Given the description of an element on the screen output the (x, y) to click on. 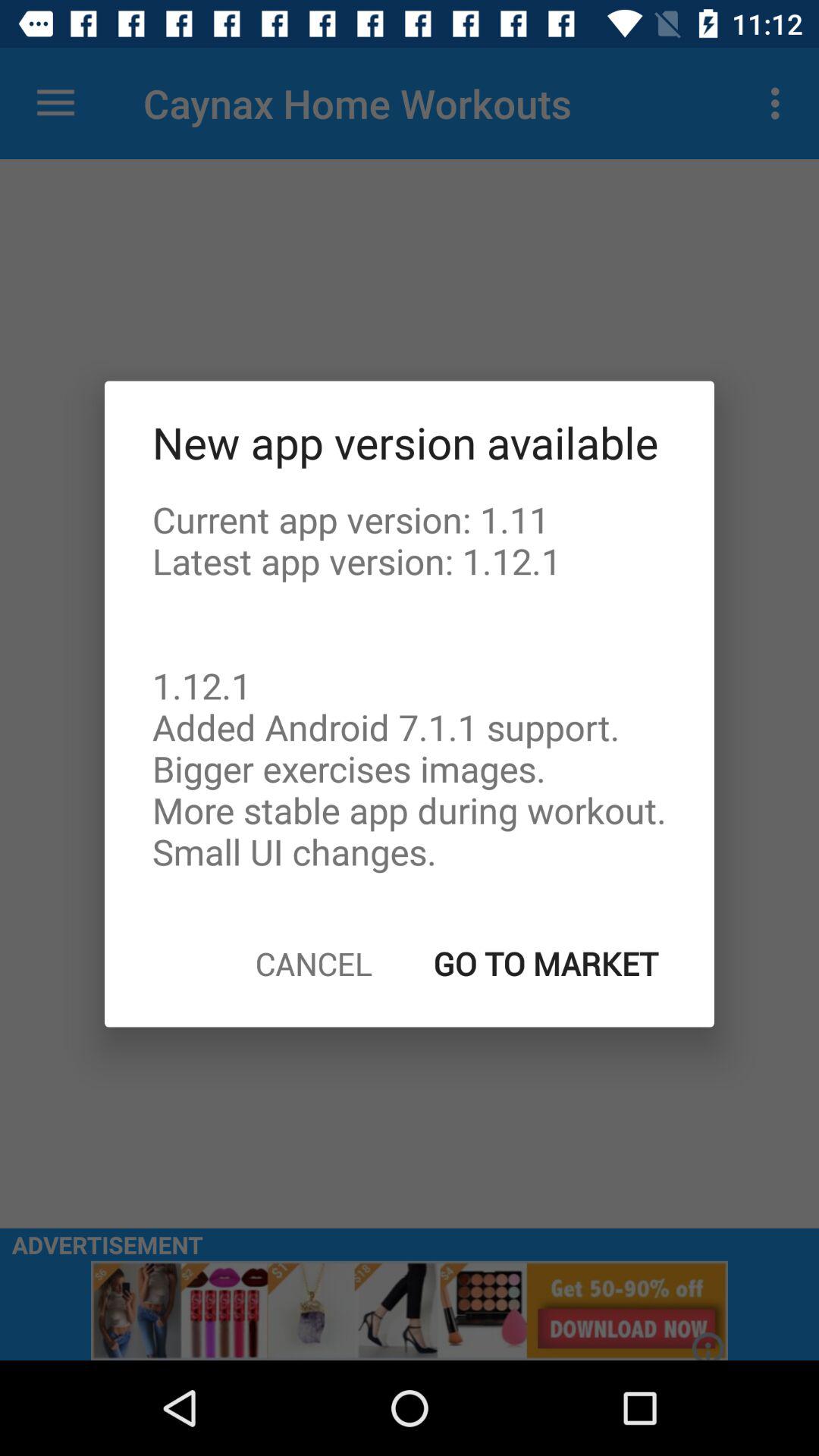
choose icon below current app version icon (313, 963)
